Given the description of an element on the screen output the (x, y) to click on. 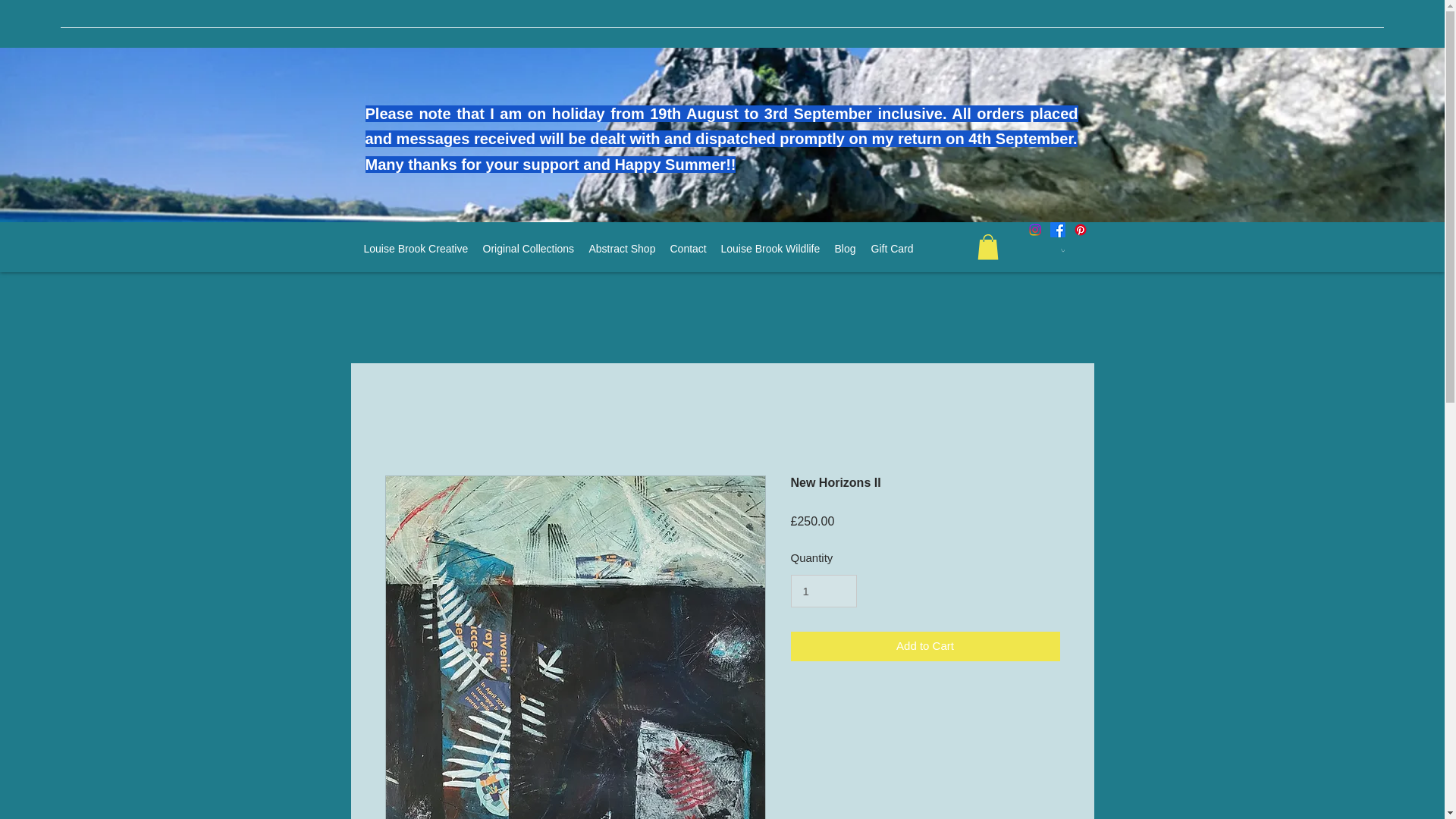
Abstract Shop (621, 248)
1 (823, 591)
Contact (687, 248)
Louise Brook Creative (416, 248)
Add to Cart (924, 645)
Gift Card (890, 248)
Original Collections (527, 248)
Blog (845, 248)
Louise Brook Wildlife (770, 248)
